Given the description of an element on the screen output the (x, y) to click on. 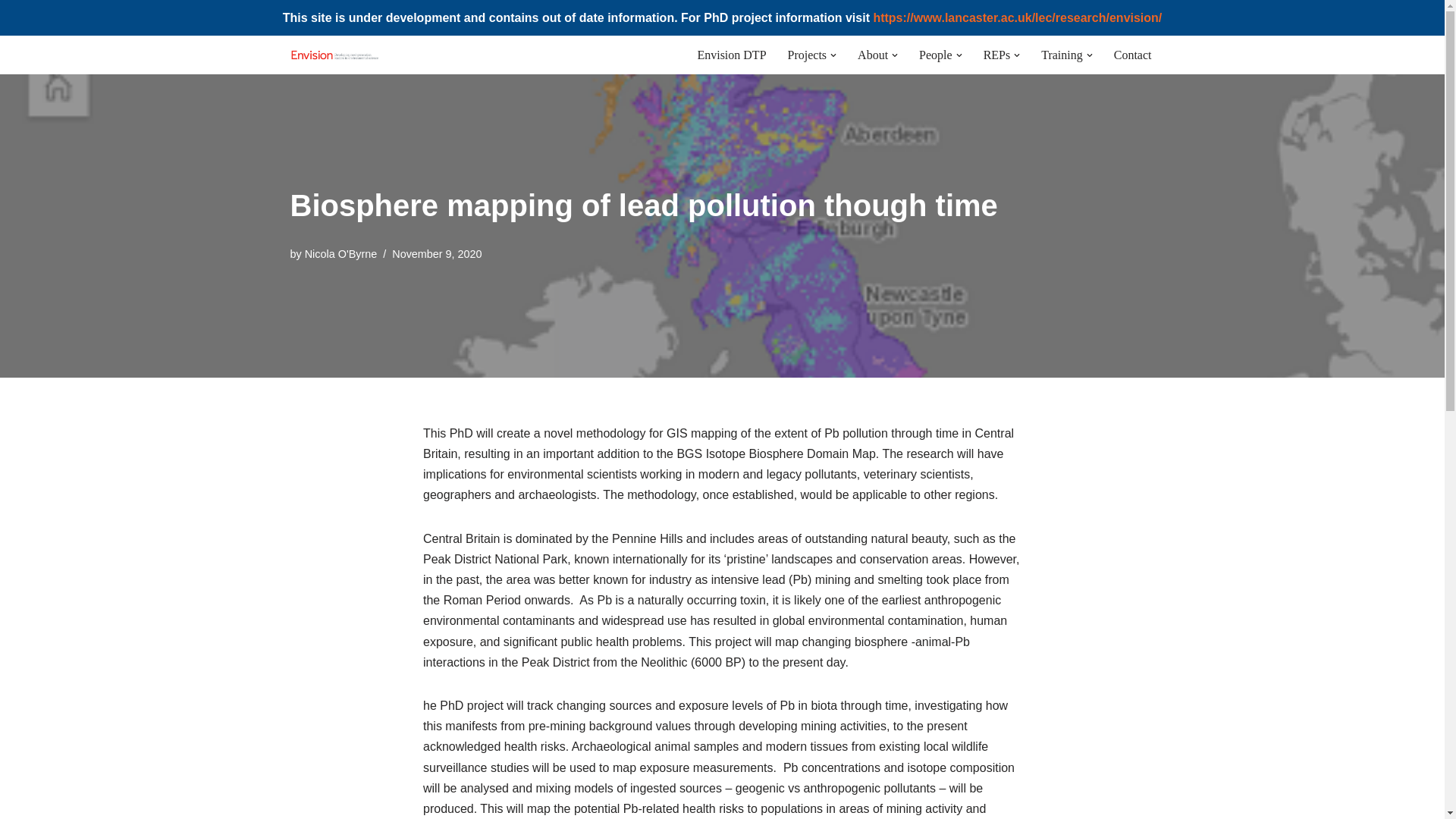
Envision DTP (731, 55)
Training (1062, 55)
Projects (807, 55)
Skip to content (11, 67)
About (872, 55)
Posts by Nicola O'Byrne (340, 254)
Contact (1132, 55)
People (935, 55)
REPs (997, 55)
